Given the description of an element on the screen output the (x, y) to click on. 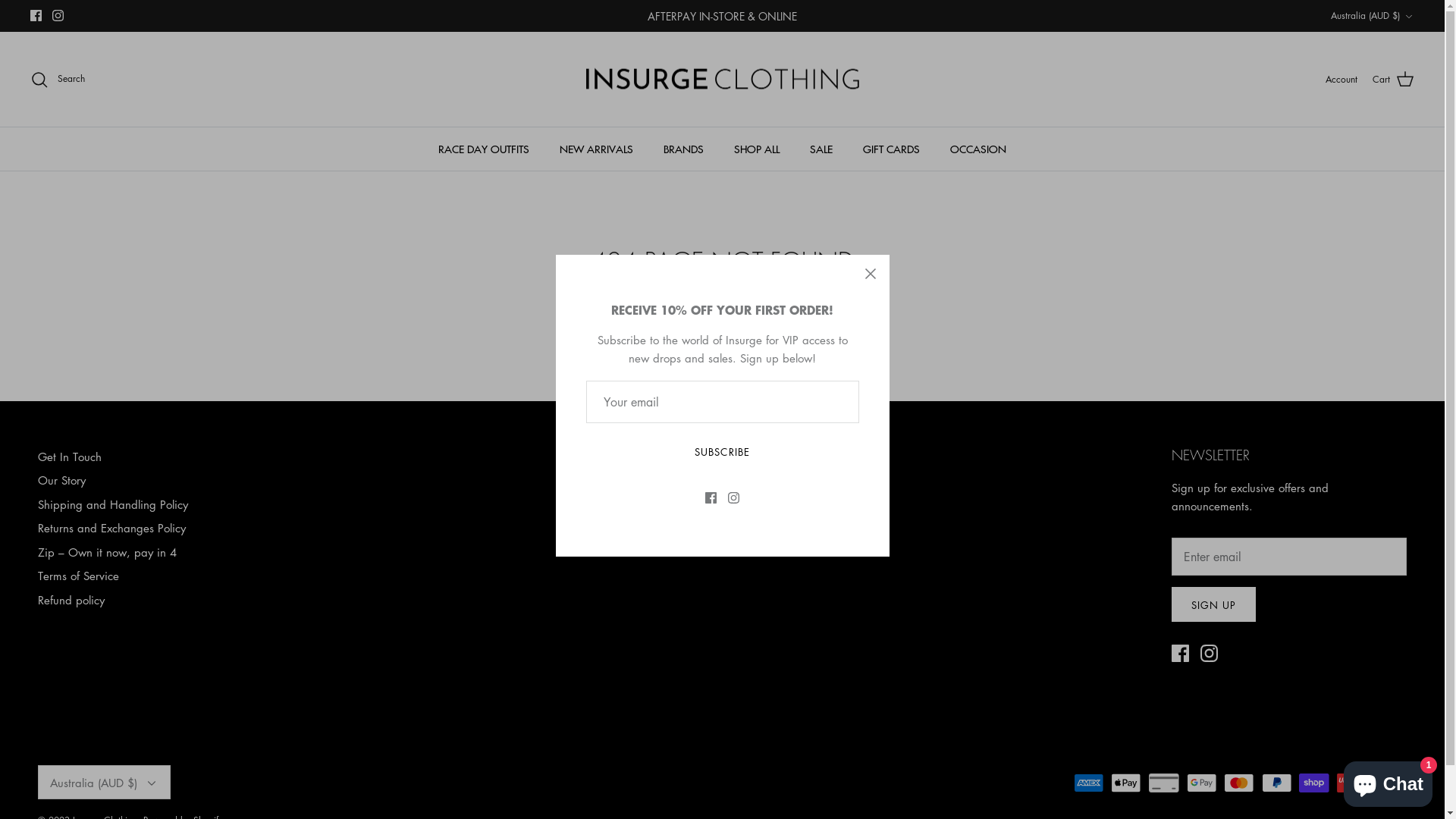
Terms of Service Element type: text (78, 575)
SIGN UP Element type: text (1213, 603)
Australia (AUD $)
Down Element type: text (1372, 15)
Instagram Element type: text (57, 15)
Account Element type: text (1341, 79)
home page Element type: text (758, 315)
SHOP ALL Element type: text (756, 148)
Cart Element type: text (1393, 79)
SALE Element type: text (821, 148)
Search Element type: text (57, 79)
Get In Touch Element type: text (69, 456)
Returns and Exchanges Policy Element type: text (111, 527)
Facebook Element type: text (35, 15)
Shopify online store chat Element type: hover (1388, 780)
NEW ARRIVALS Element type: text (596, 148)
Facebook Element type: text (1180, 653)
try a search Element type: text (834, 315)
GIFT CARDS Element type: text (891, 148)
Instagram Element type: text (1208, 653)
BRANDS Element type: text (683, 148)
SUBSCRIBE Element type: text (721, 451)
OCCASION Element type: text (977, 148)
Insurge Clothing Element type: hover (722, 79)
Our Story Element type: text (61, 479)
Australia (AUD $)
Down Element type: text (103, 782)
RACE DAY OUTFITS Element type: text (483, 148)
Shipping and Handling Policy Element type: text (112, 503)
Refund policy Element type: text (70, 599)
